Given the description of an element on the screen output the (x, y) to click on. 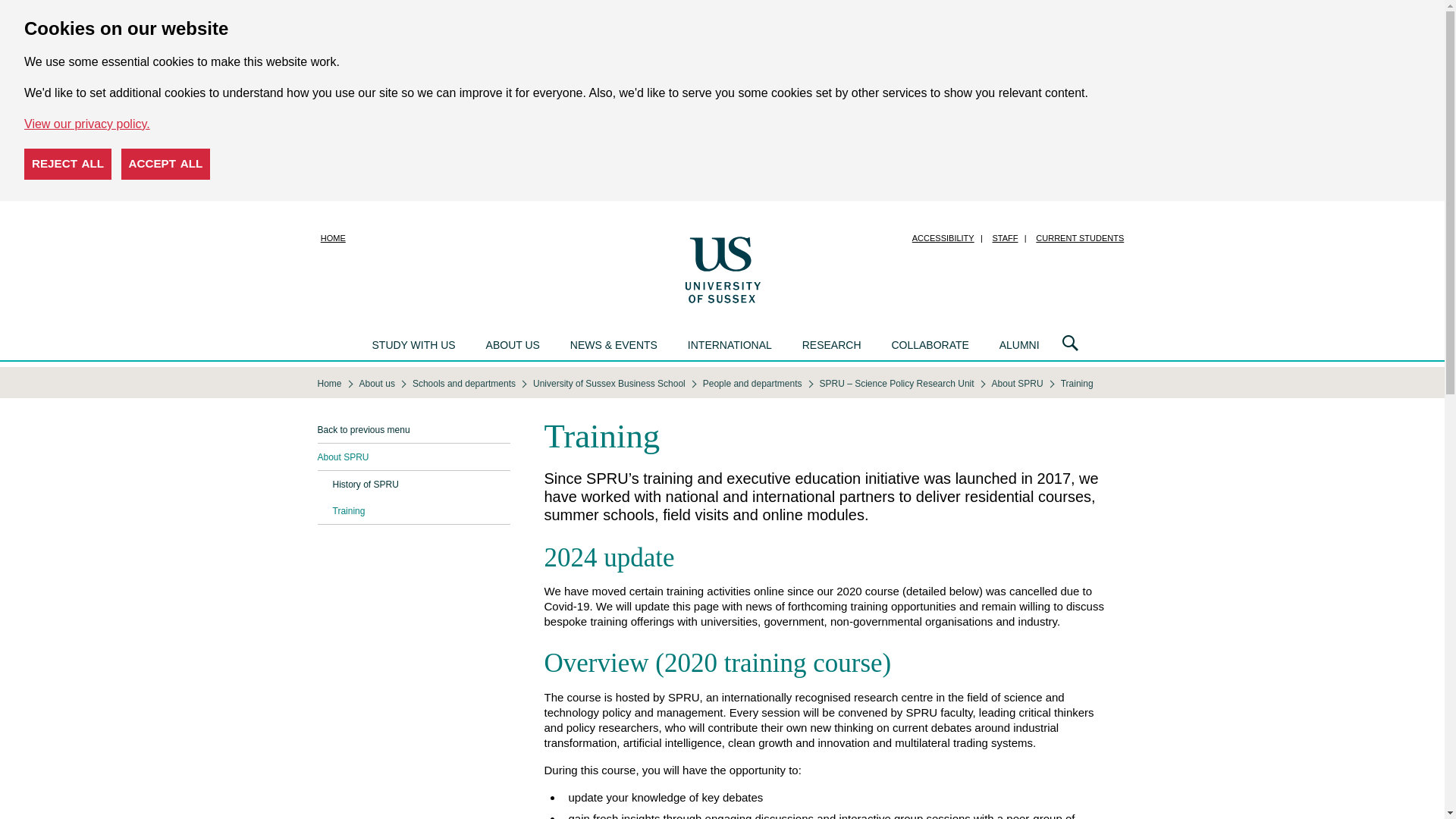
View our privacy policy. (86, 123)
REJECT ALL (68, 163)
STAFF (1005, 238)
ACCESSIBILITY (942, 238)
Search (1070, 343)
ACCEPT ALL (165, 163)
CURRENT STUDENTS (1079, 238)
STUDY WITH US (413, 345)
HOME (333, 238)
